Given the description of an element on the screen output the (x, y) to click on. 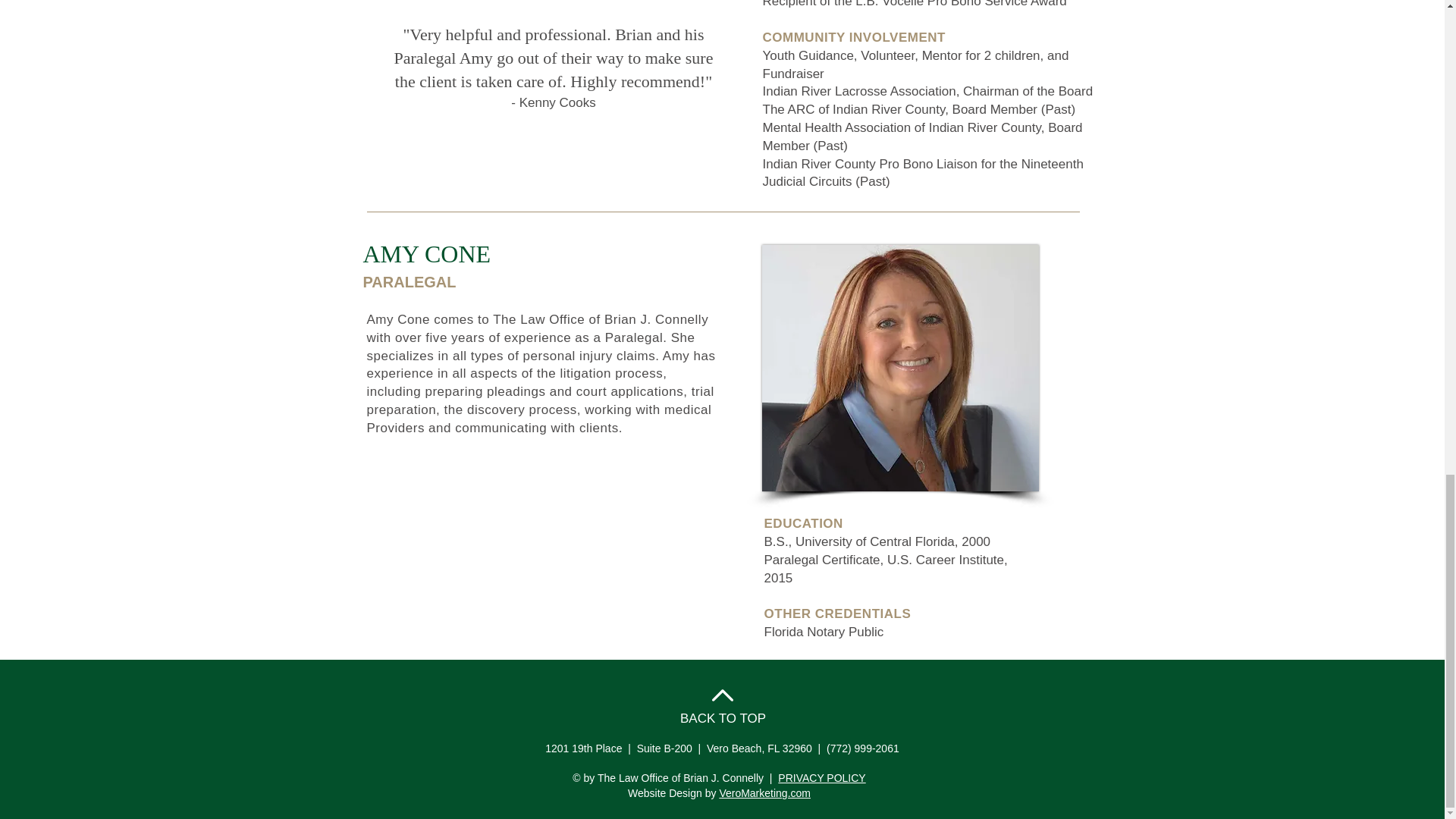
PRIVACY POLICY (820, 777)
VeroMarketing.com (764, 793)
BACK TO TOP (722, 718)
